Given the description of an element on the screen output the (x, y) to click on. 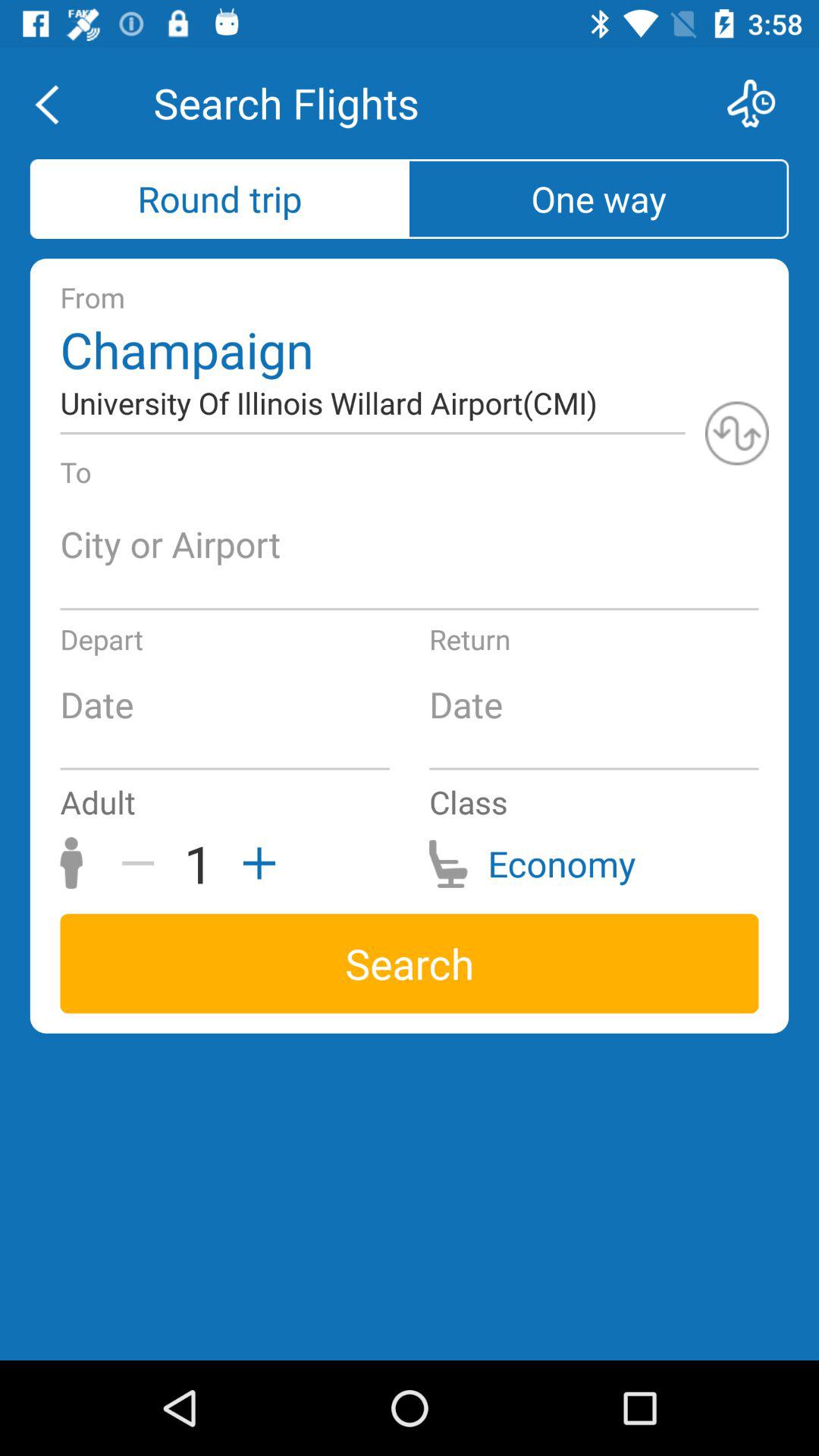
launch the item above from icon (219, 198)
